Given the description of an element on the screen output the (x, y) to click on. 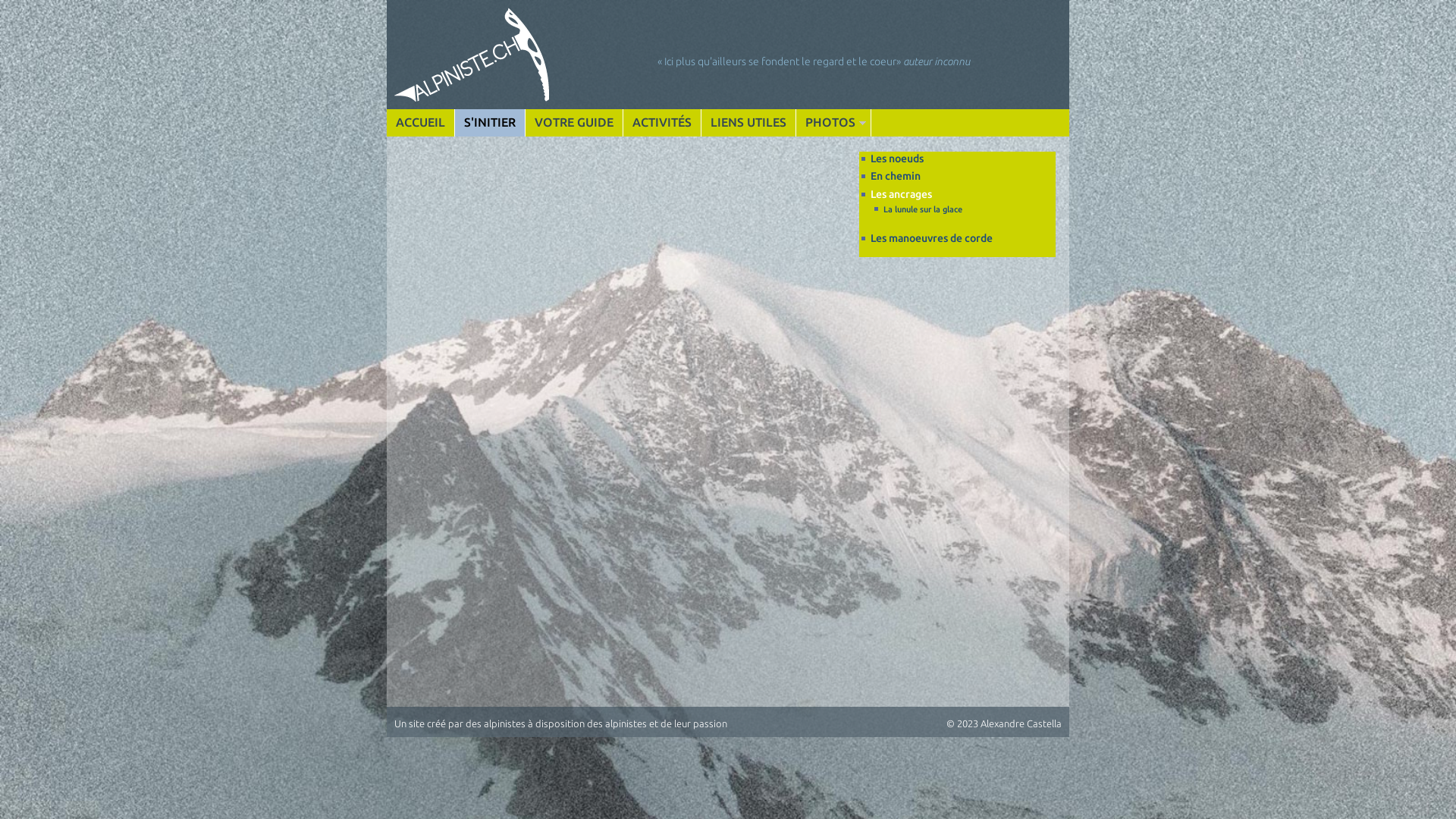
VOTRE GUIDE Element type: text (573, 122)
Les ancrages Element type: text (900, 194)
Les noeuds Element type: text (896, 157)
S'INITIER Element type: text (489, 122)
En chemin Element type: text (895, 175)
ACCUEIL Element type: text (420, 122)
Les manoeuvres de corde Element type: text (931, 238)
PHOTOS Element type: text (833, 122)
La lunule sur la glace Element type: text (922, 208)
LIENS UTILES Element type: text (748, 122)
